Given the description of an element on the screen output the (x, y) to click on. 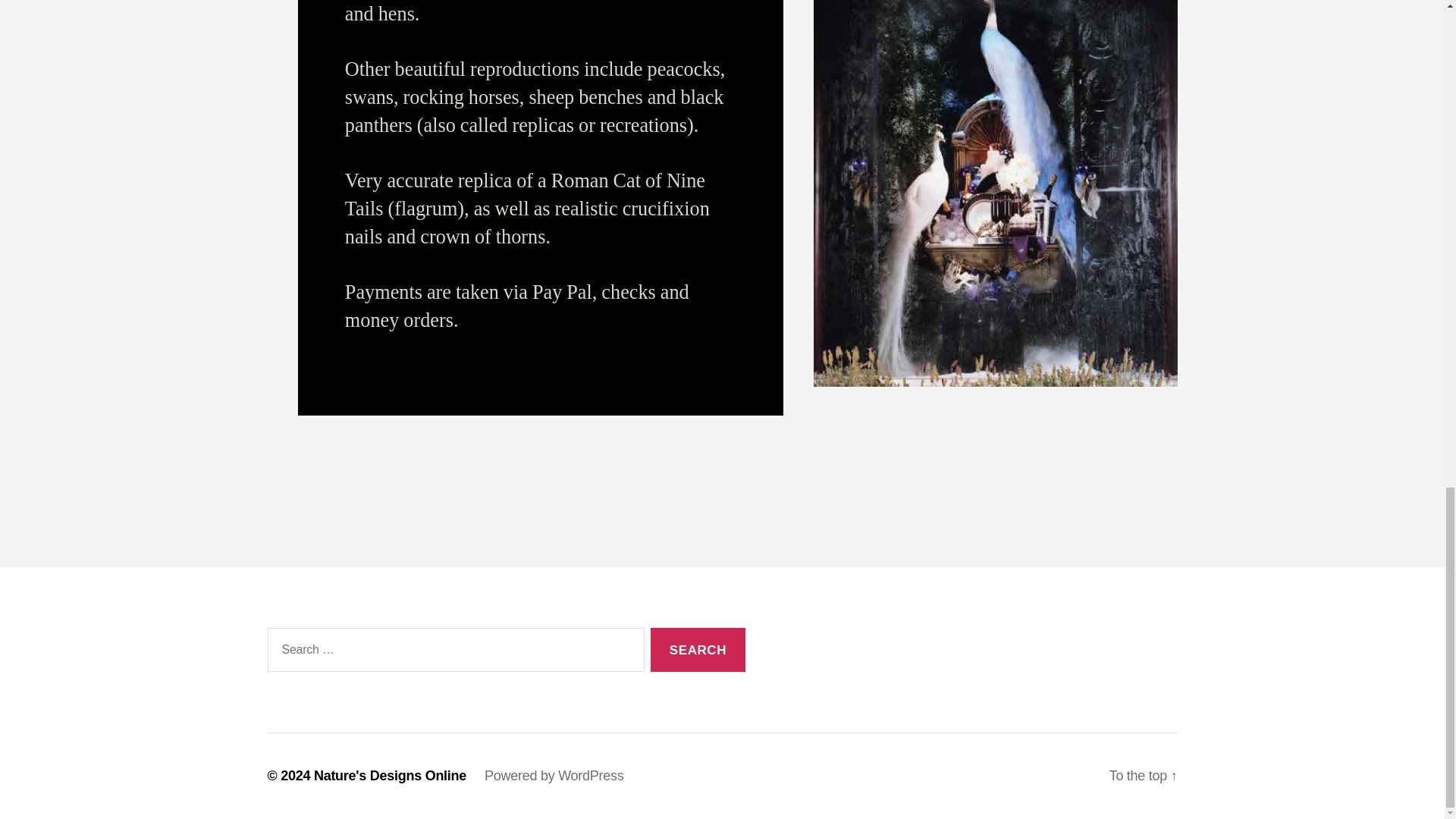
Search (697, 650)
Search (697, 650)
Powered by WordPress (553, 775)
Nature's Designs Online (389, 775)
Search (697, 650)
